Given the description of an element on the screen output the (x, y) to click on. 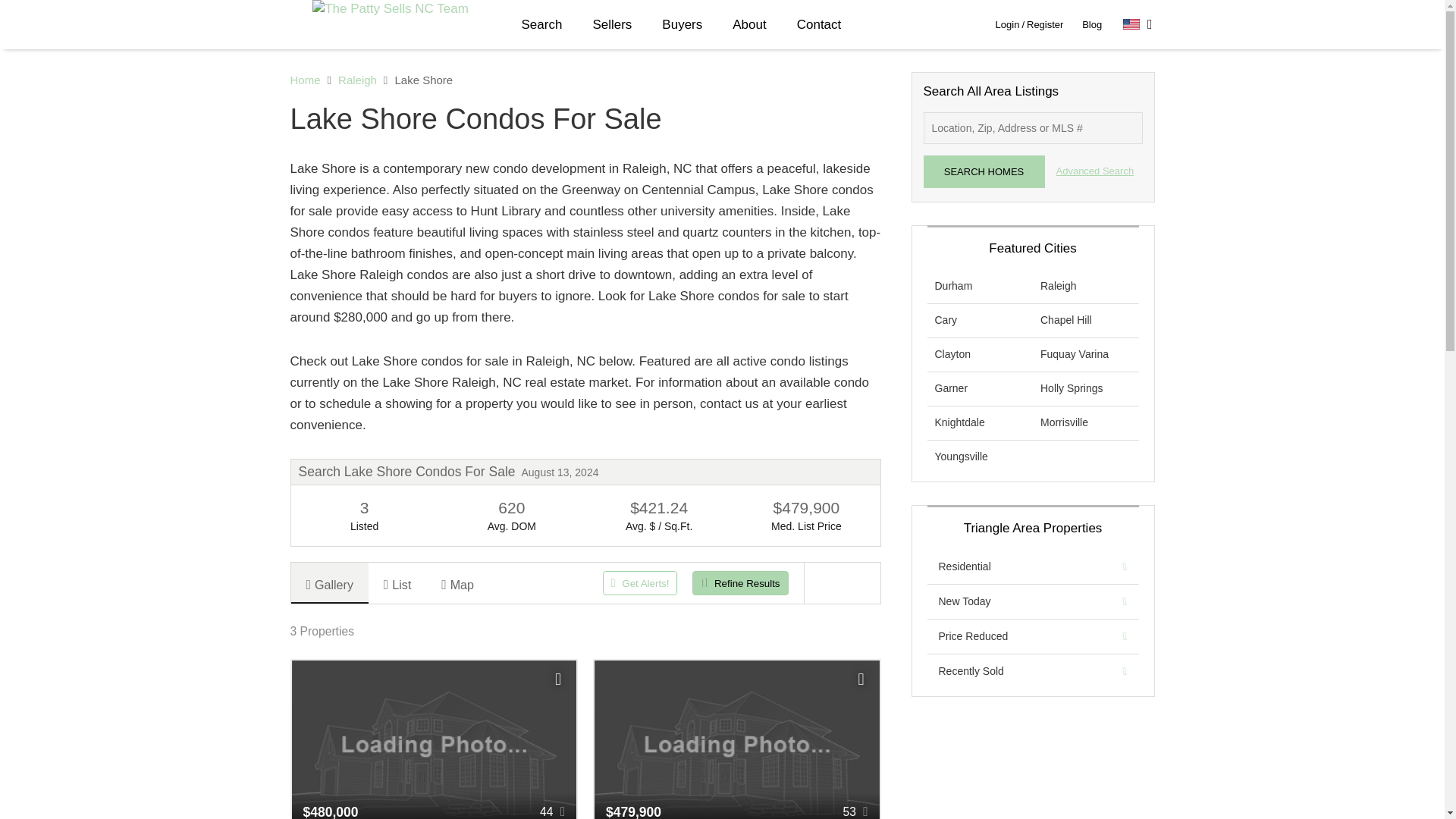
Search (542, 24)
Sellers (611, 24)
Blog (1091, 24)
About (748, 24)
Select Language (1137, 24)
Contact (819, 24)
Register (1044, 24)
Buyers (681, 24)
